Given the description of an element on the screen output the (x, y) to click on. 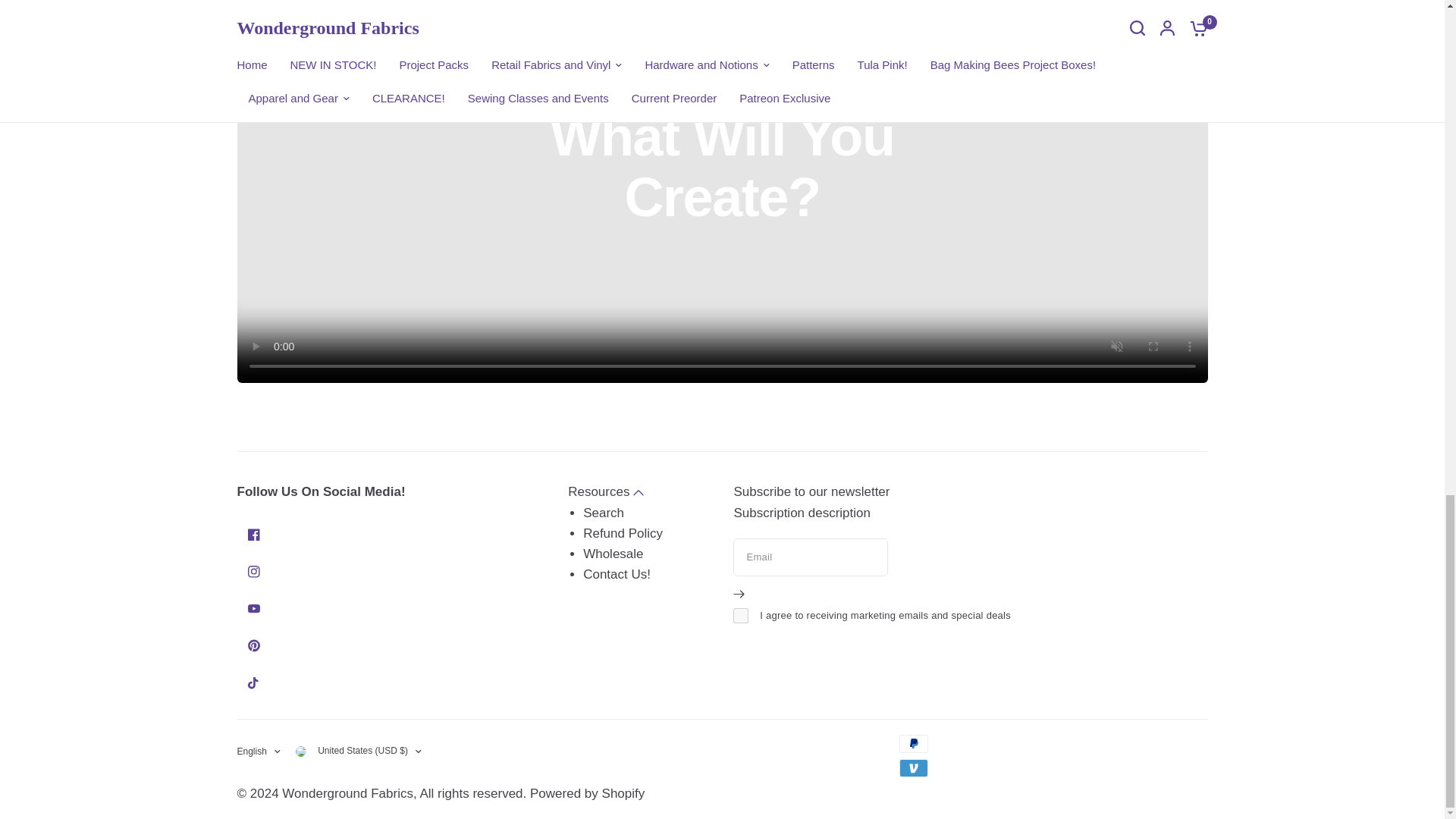
on (740, 614)
